Given the description of an element on the screen output the (x, y) to click on. 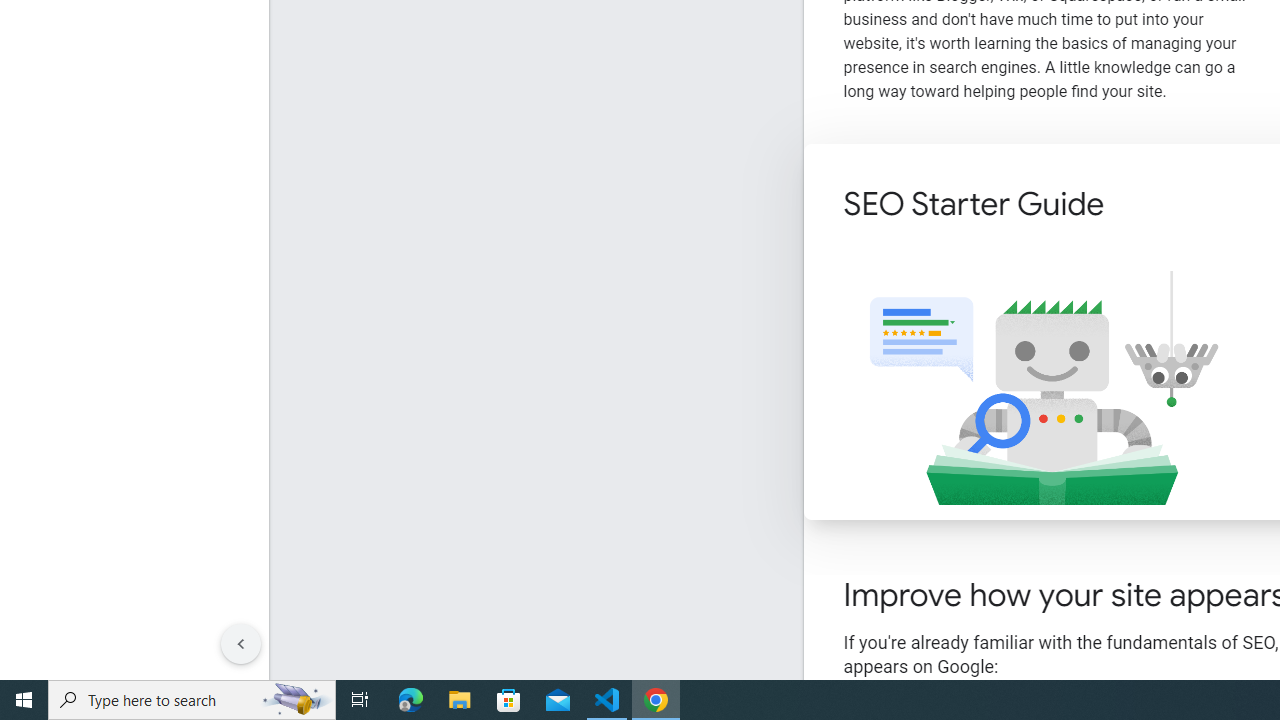
Copy link to this section: SEO Starter Guide  (1131, 205)
Hide side navigation (241, 643)
